Given the description of an element on the screen output the (x, y) to click on. 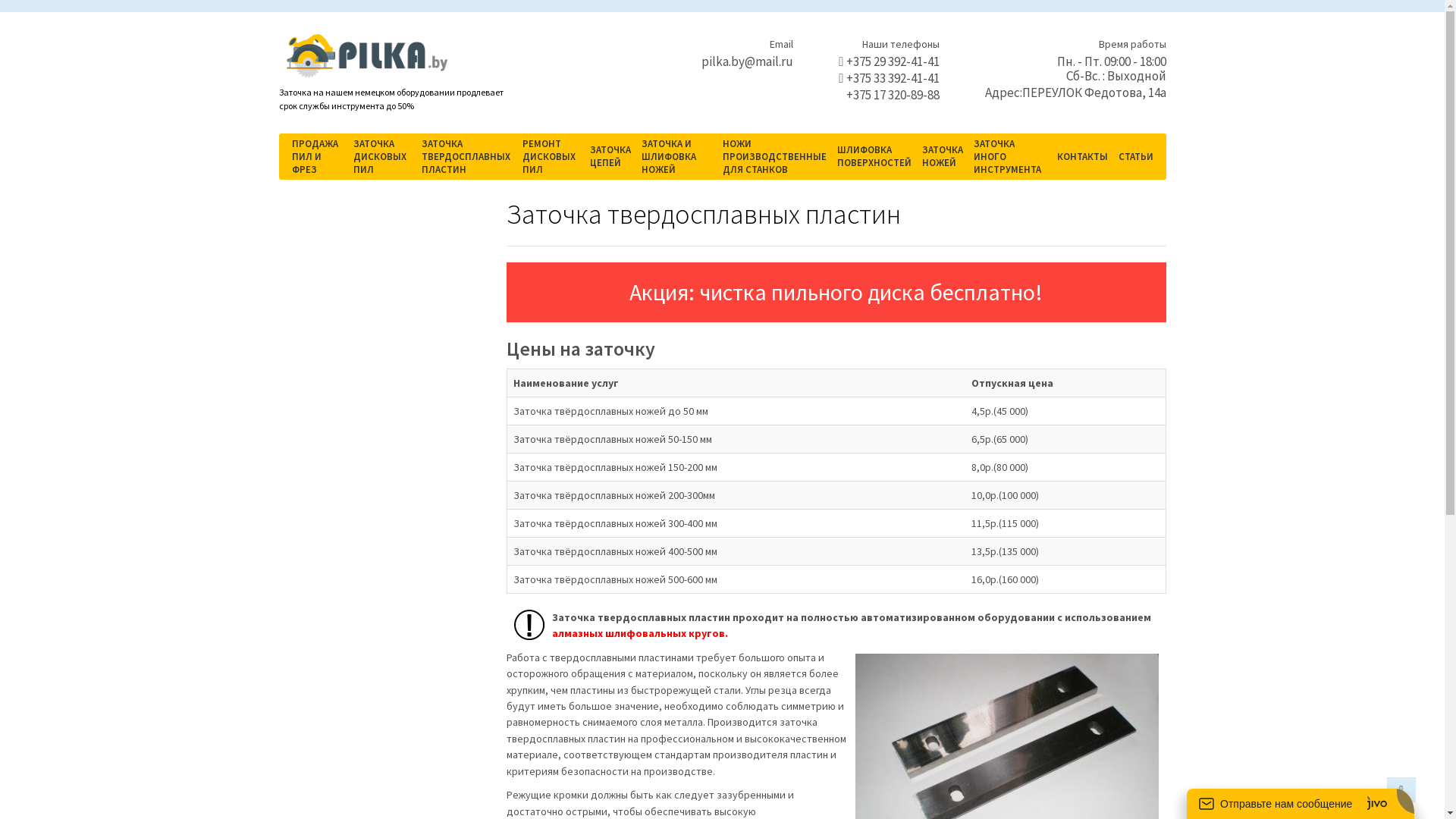
+375 17 320-89-88 Element type: text (888, 94)
pilka.by@mail.ru Element type: text (747, 61)
+375 33 392-41-41 Element type: text (888, 78)
+375 29 392-41-41 Element type: text (888, 61)
